Given the description of an element on the screen output the (x, y) to click on. 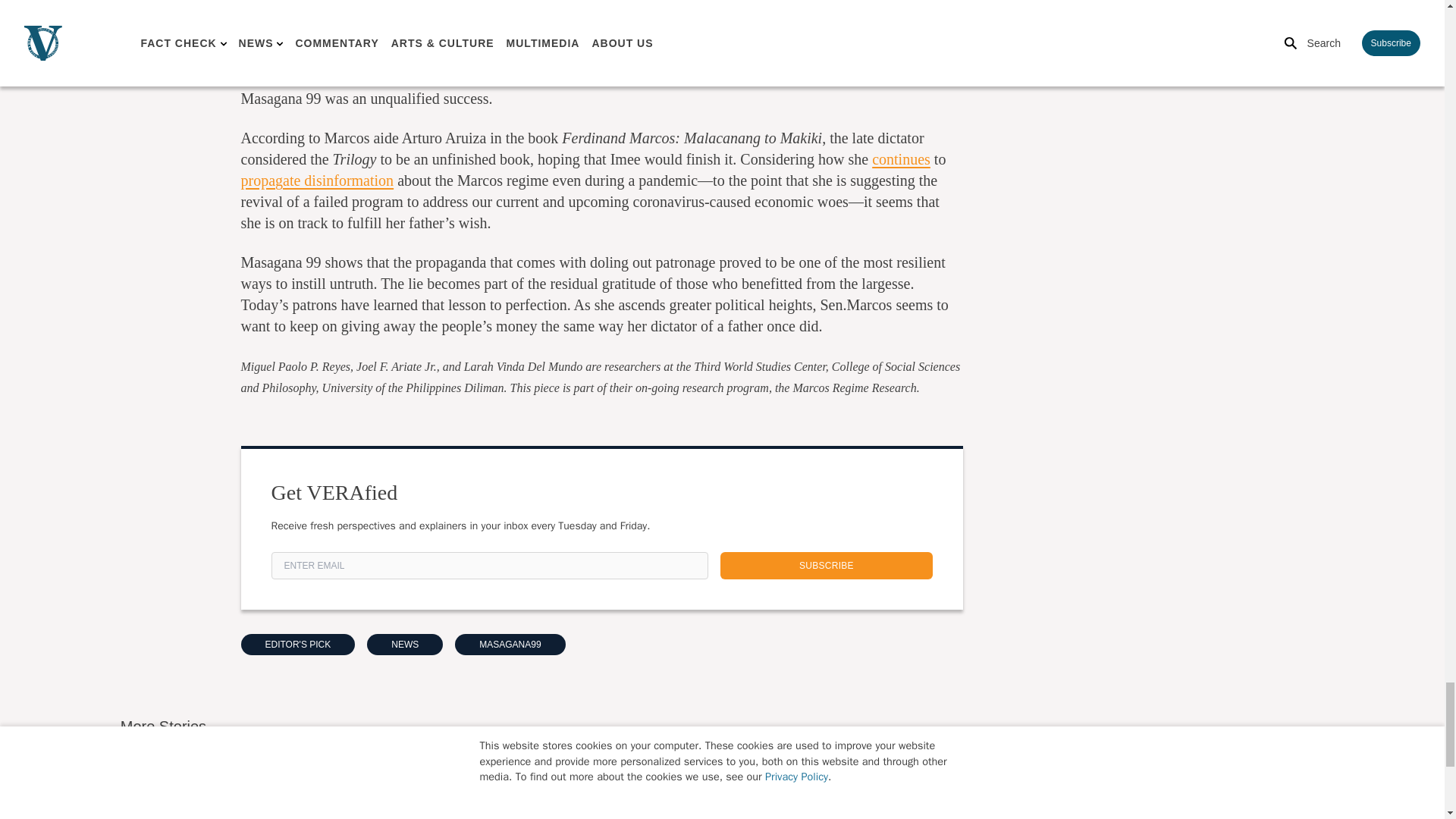
SUBSCRIBE (826, 565)
